Given the description of an element on the screen output the (x, y) to click on. 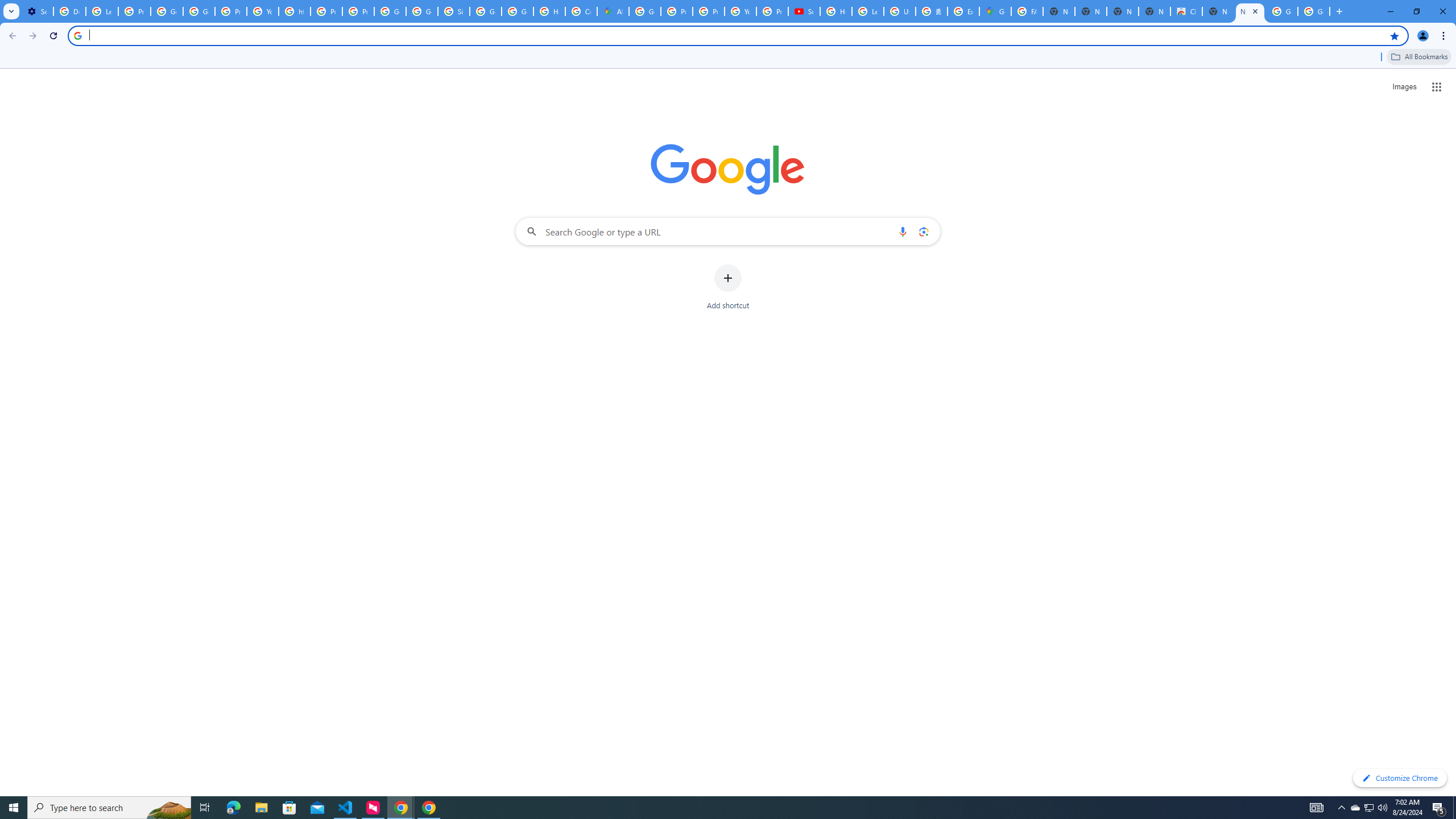
Add shortcut (727, 287)
